Given the description of an element on the screen output the (x, y) to click on. 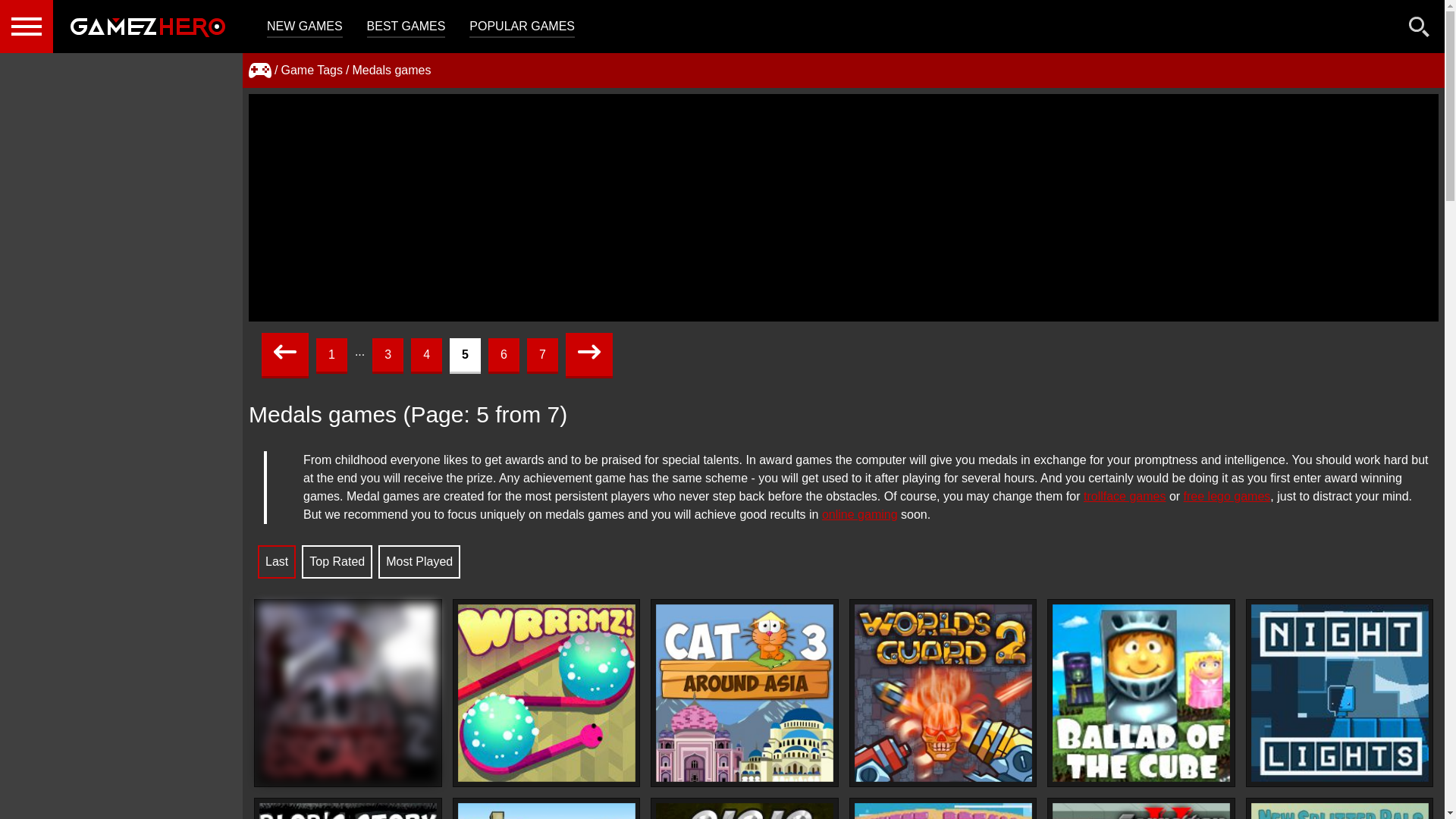
Search Game (1419, 30)
Best Games (405, 27)
Gamezhero.com - Free Online Games. Play Free Games Online. (147, 26)
Gamezhero.com - Free Online Games. Play Free Games Online. (147, 26)
POPULAR GAMES (521, 27)
NEW GAMES (304, 27)
BEST GAMES (405, 27)
New Games (304, 27)
Popular Games (521, 27)
